Given the description of an element on the screen output the (x, y) to click on. 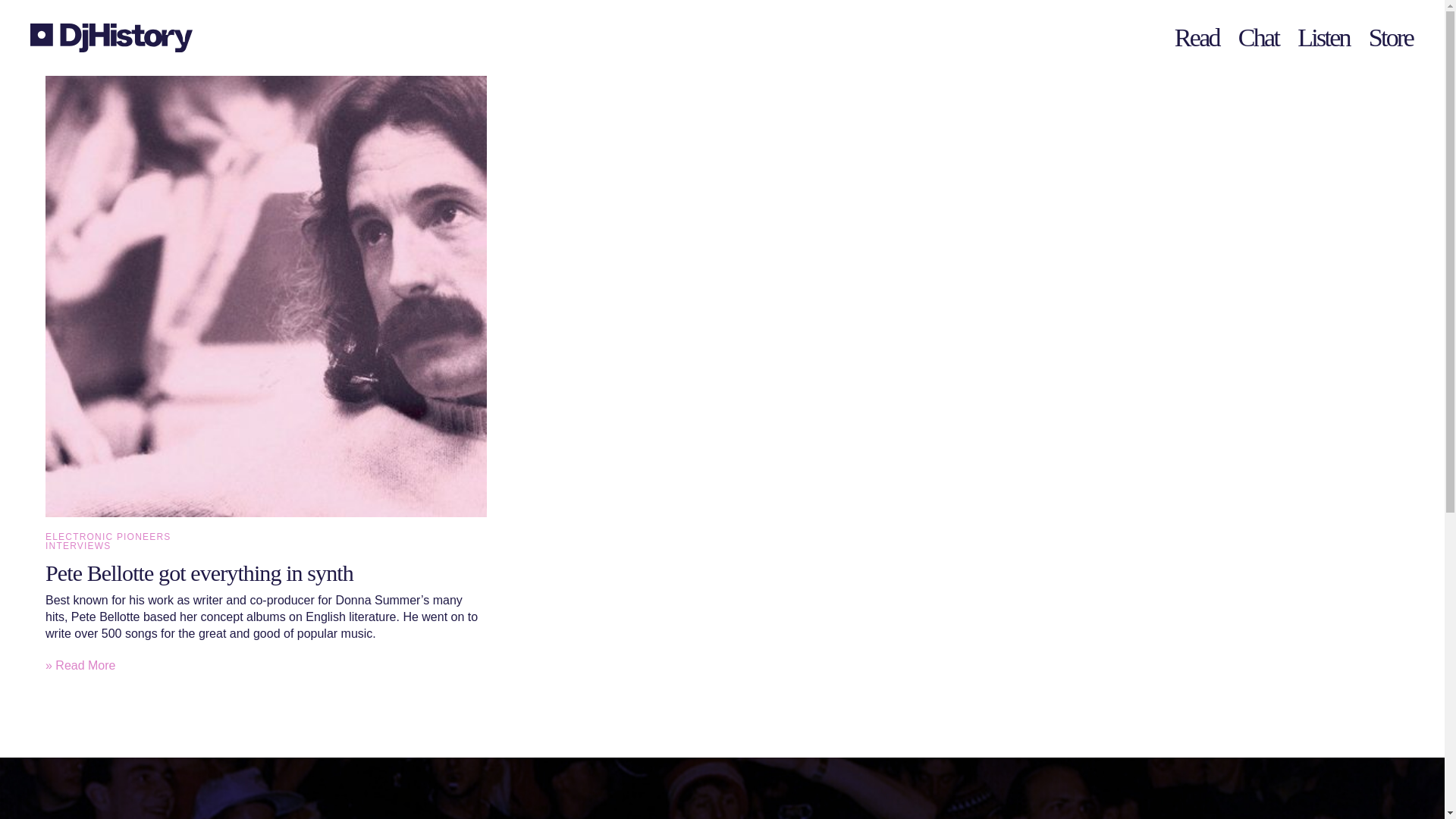
Store (1390, 37)
Pete Bellotte got everything in synth (199, 572)
Listen (1324, 37)
ELECTRONIC PIONEERS (108, 536)
INTERVIEWS (77, 545)
Read (1197, 37)
Chat (1259, 37)
